Given the description of an element on the screen output the (x, y) to click on. 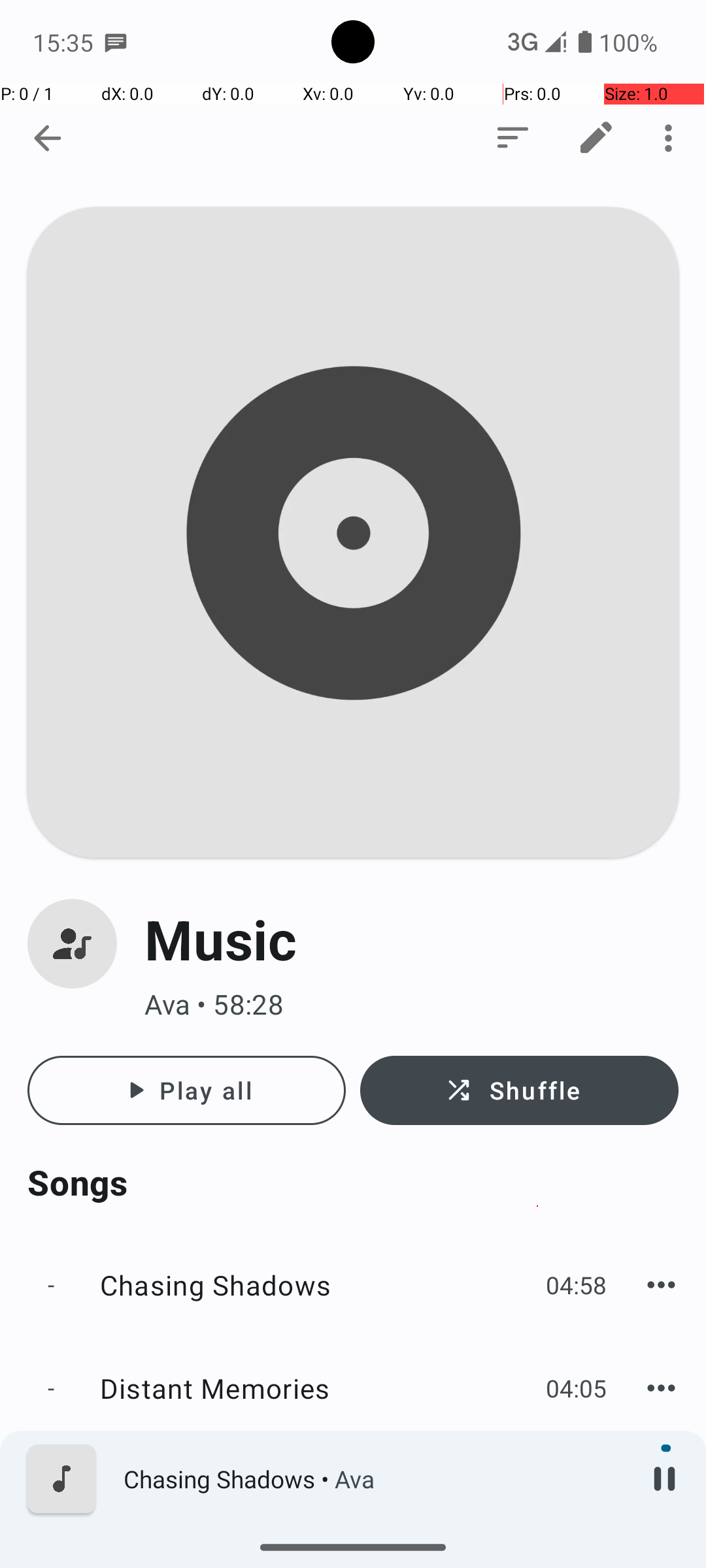
  Element type: android.widget.TextView (127, 138)
Sort order Element type: android.widget.Button (512, 137)
Tag editor Element type: android.widget.Button (595, 137)
Music Element type: android.widget.TextView (411, 939)
Ava • 58:28 Element type: android.widget.TextView (411, 1004)
Play all Element type: android.widget.Button (186, 1090)
Chasing Shadows • Ava Element type: android.widget.TextView (372, 1478)
- Element type: android.widget.TextView (50, 1284)
Chasing Shadows Element type: android.widget.TextView (315, 1284)
04:58 Element type: android.widget.TextView (576, 1284)
Distant Memories Element type: android.widget.TextView (315, 1454)
04:05 Element type: android.widget.TextView (576, 1454)
Dreamer's Awake Element type: android.widget.TextView (315, 1553)
04:06 Element type: android.widget.TextView (576, 1548)
